Given the description of an element on the screen output the (x, y) to click on. 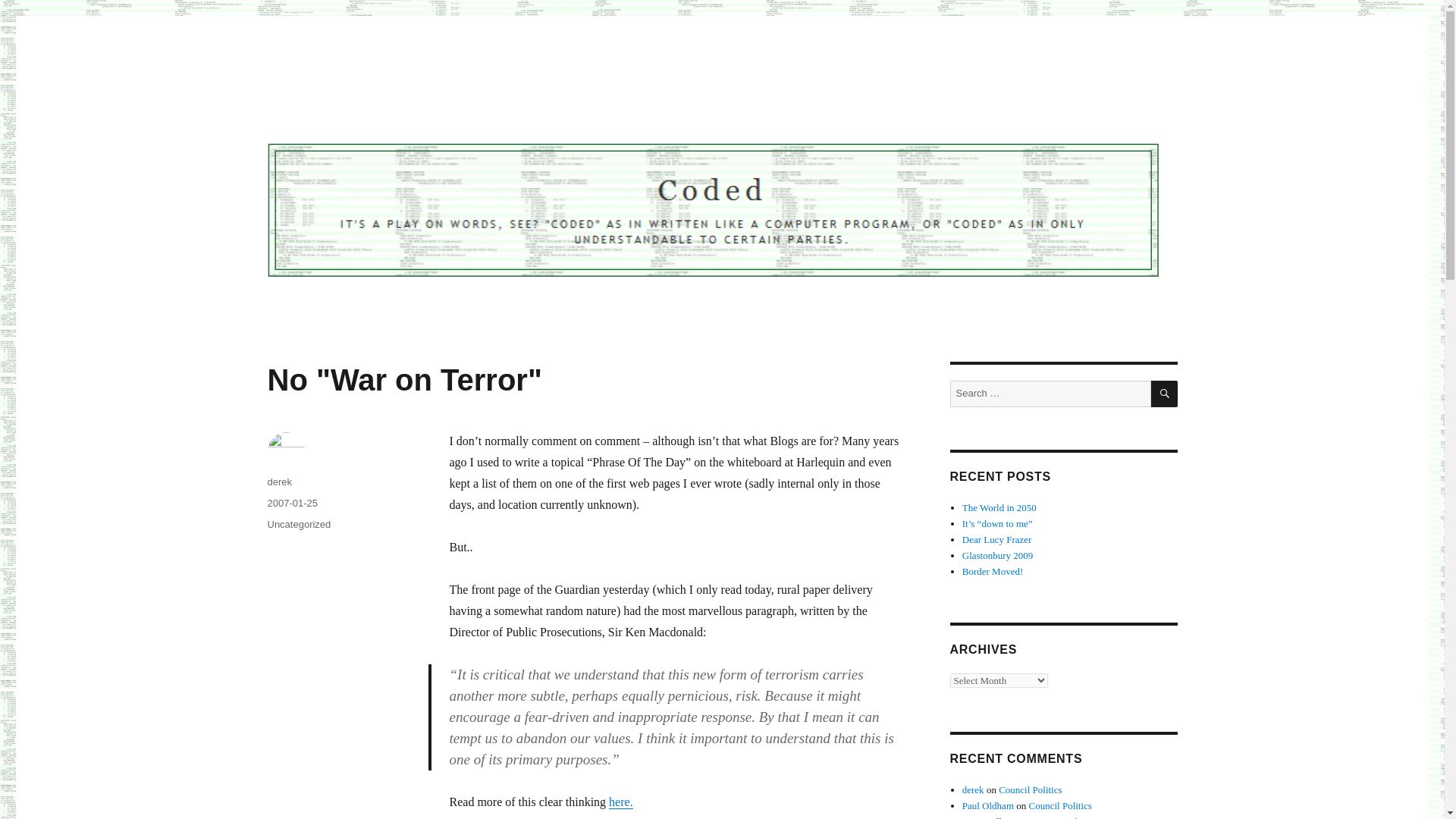
here. (620, 801)
Council Politics (1058, 805)
derek (279, 481)
Dear Lucy Frazer (997, 539)
Exam Madness (1063, 817)
Glastonbury 2009 (997, 555)
2007-01-25 (291, 502)
Council Politics (1029, 789)
Uncategorized (298, 523)
The World in 2050 (999, 507)
